Given the description of an element on the screen output the (x, y) to click on. 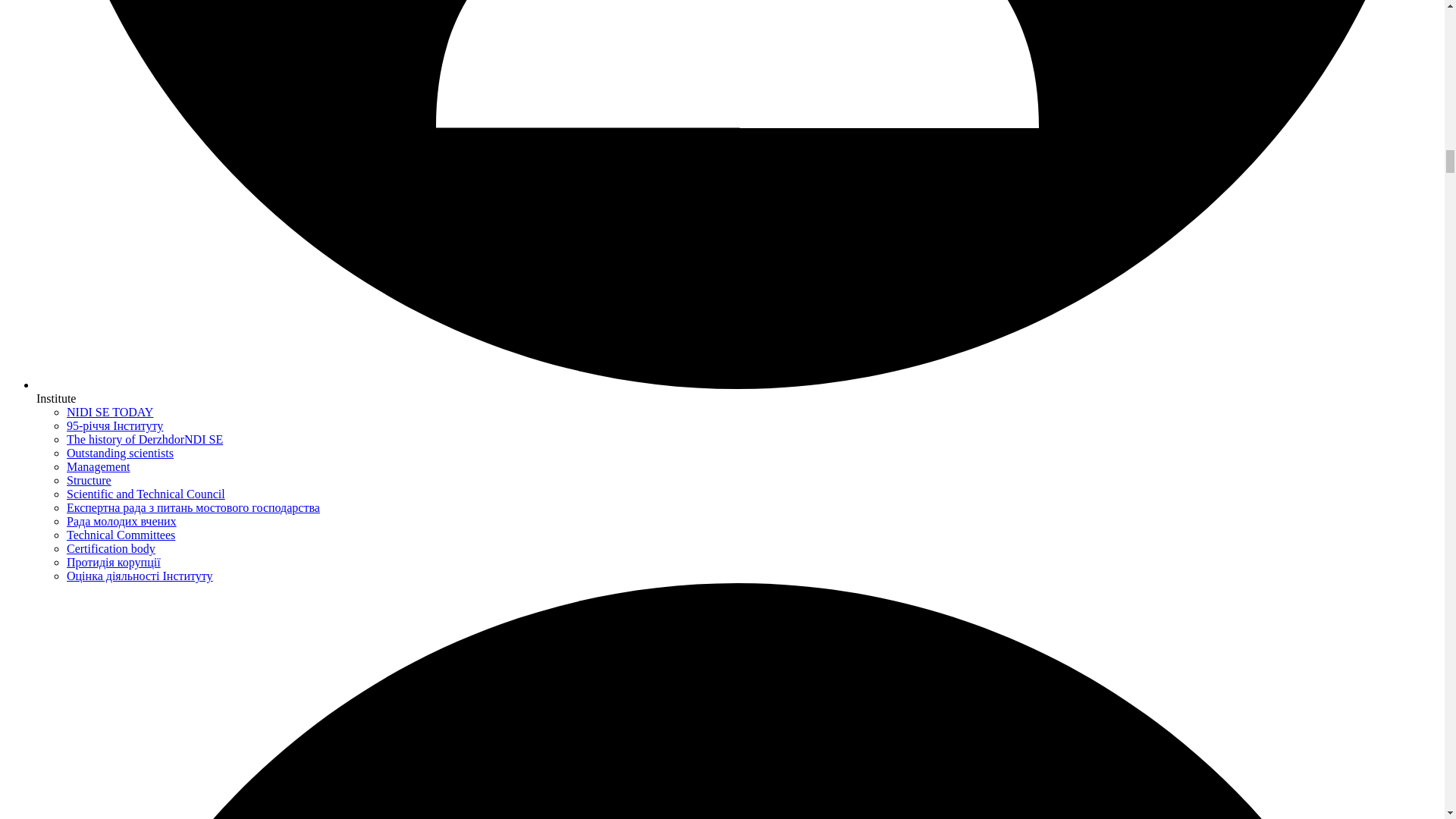
Certification body (110, 548)
NIDI SE TODAY (109, 411)
The history of DerzhdorNDI SE (144, 439)
Outstanding scientists (119, 452)
Structure (89, 480)
Scientific and Technical Council (145, 493)
Management (98, 466)
